Given the description of an element on the screen output the (x, y) to click on. 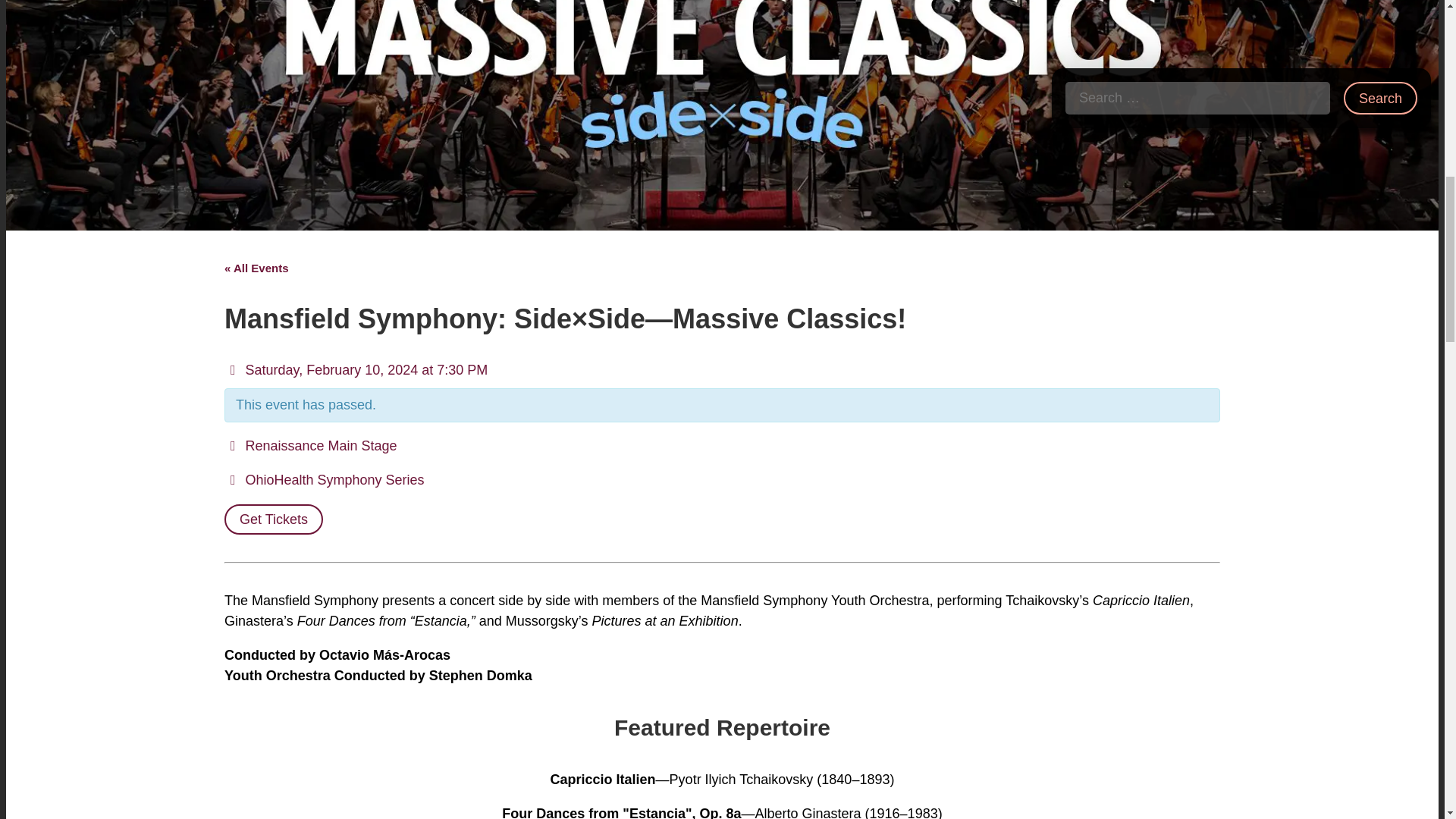
Get Tickets (273, 519)
Saturday, February 10, 2024 at 7:30 PM (355, 369)
Renaissance Main Stage (310, 445)
 OhioHealth Symphony Series (324, 480)
